Given the description of an element on the screen output the (x, y) to click on. 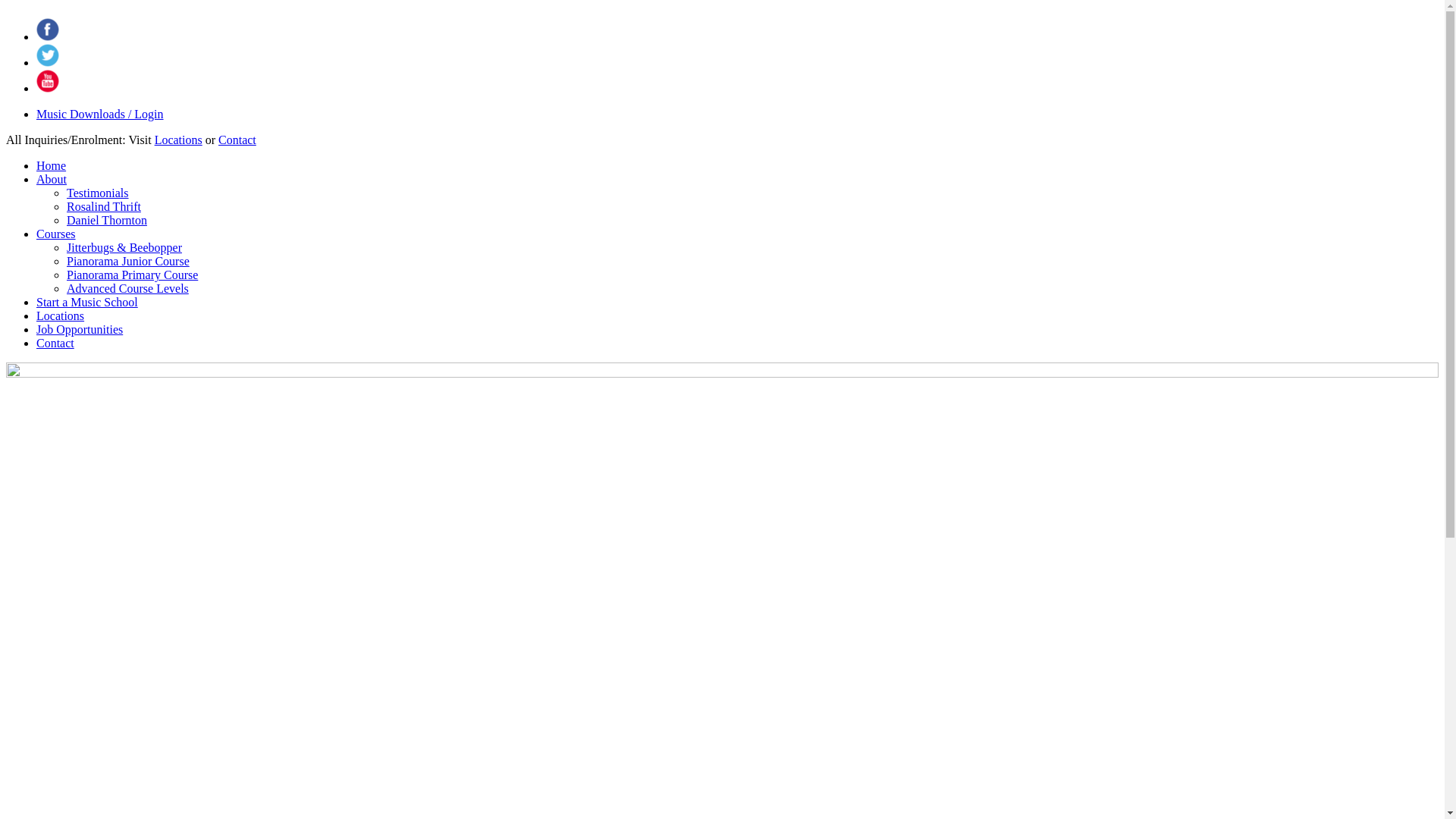
Daniel Thornton Element type: text (106, 219)
Locations Element type: text (60, 315)
Pianorama Primary Course Element type: text (131, 274)
Home Element type: text (50, 165)
Rosalind Thrift Element type: text (103, 206)
About Element type: text (51, 178)
Jitterbugs & Beebopper Element type: text (124, 247)
Pianorama Junior Course Element type: text (127, 260)
Courses Element type: text (55, 233)
Facebook Element type: hover (47, 29)
Start a Music School Element type: text (87, 301)
Testimonials Element type: text (97, 192)
Locations Element type: text (178, 139)
YouTube Element type: hover (47, 80)
Job Opportunities Element type: text (79, 329)
Twitter Element type: hover (47, 54)
Music Downloads / Login Element type: text (99, 113)
Advanced Course Levels Element type: text (127, 288)
Contact Element type: text (237, 139)
Contact Element type: text (55, 342)
